Given the description of an element on the screen output the (x, y) to click on. 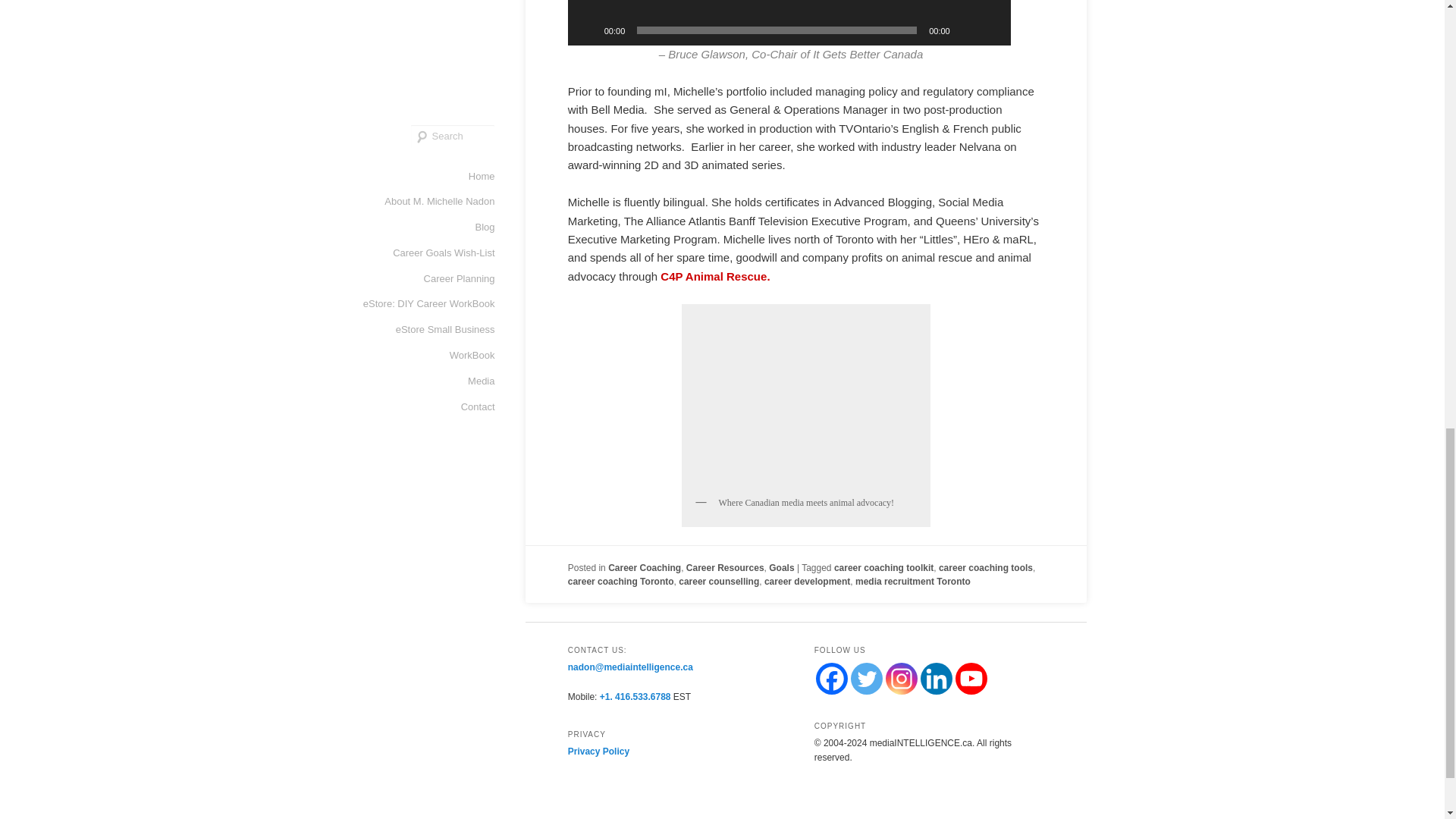
C4P Animal Rescue. (715, 276)
Mute (966, 29)
Career Resources (724, 567)
career counselling (718, 581)
Goals (780, 567)
Facebook (831, 678)
Fullscreen (991, 29)
career development (807, 581)
Play (587, 29)
career coaching toolkit (883, 567)
Youtube Channel (971, 678)
media recruitment Toronto (913, 581)
Linkedin (936, 678)
Twitter (866, 678)
Career Coaching (644, 567)
